Given the description of an element on the screen output the (x, y) to click on. 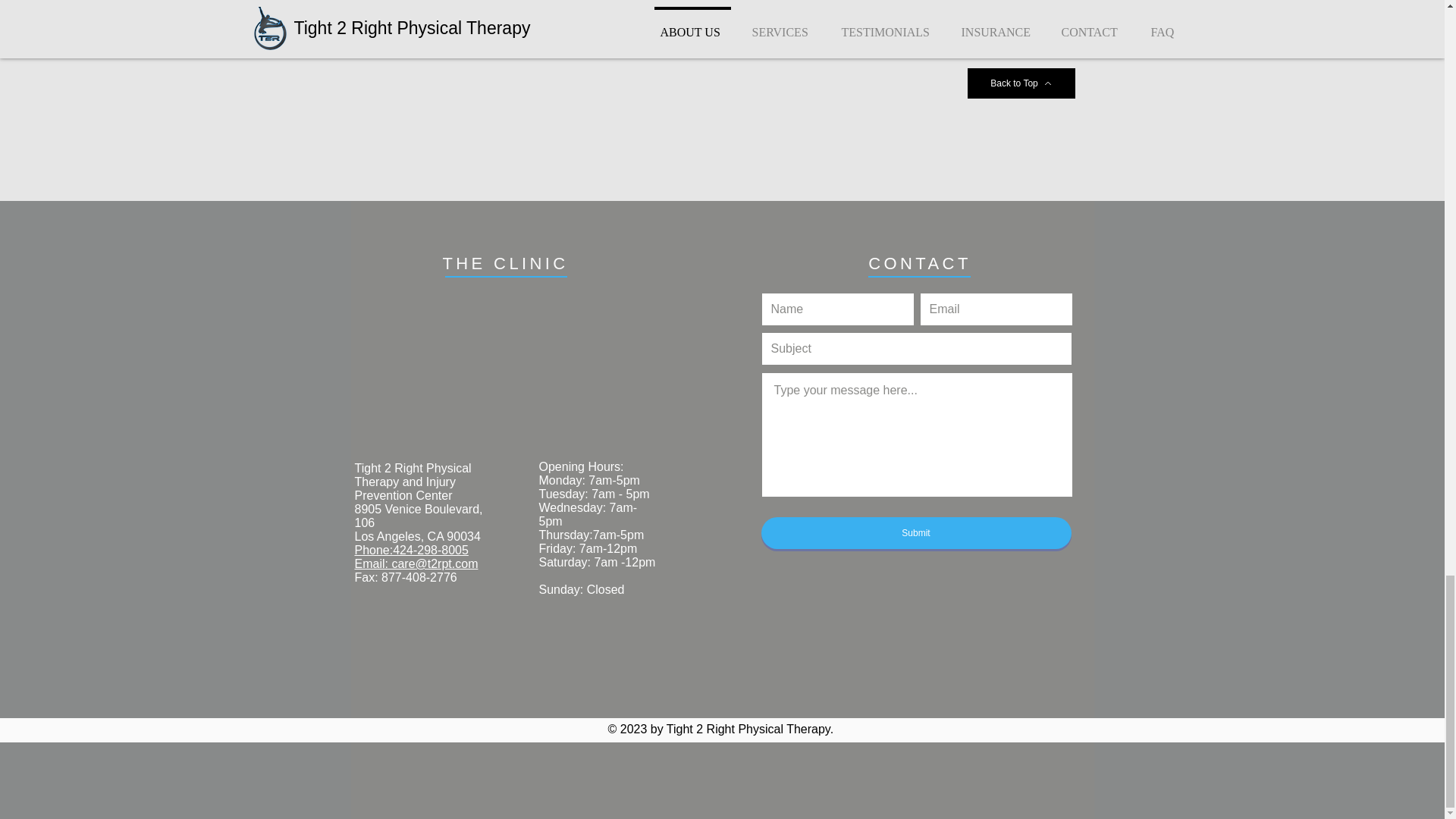
Submit (916, 532)
Phone:424-298-8005 (411, 549)
Back to Top (1021, 82)
